Given the description of an element on the screen output the (x, y) to click on. 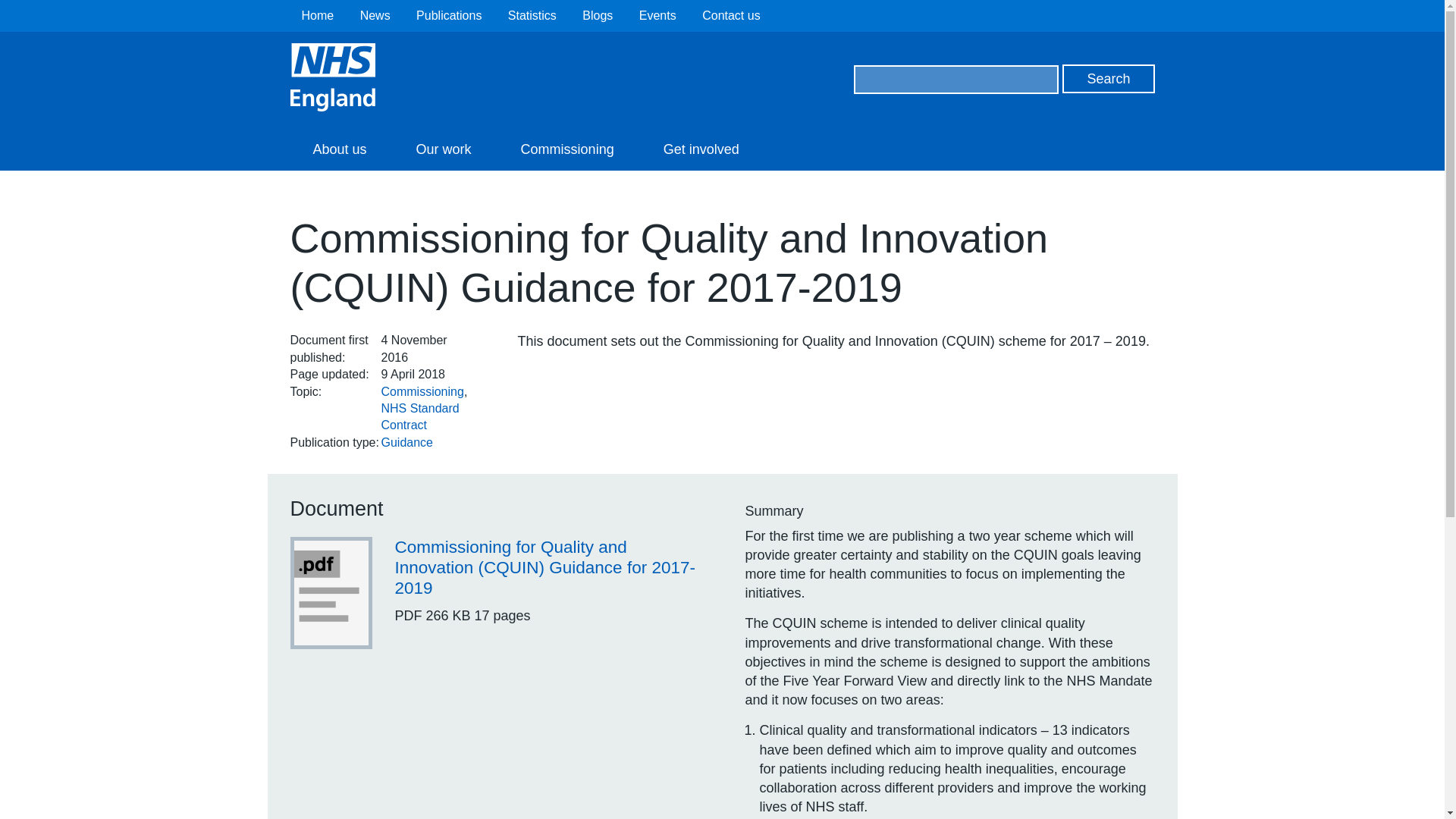
News (374, 15)
Our work (444, 149)
Statistics (532, 15)
Home (317, 15)
Get involved (700, 149)
Guidance (406, 441)
Blogs (597, 15)
About NHS England (338, 149)
Commissioning (421, 391)
Our work (444, 149)
